Given the description of an element on the screen output the (x, y) to click on. 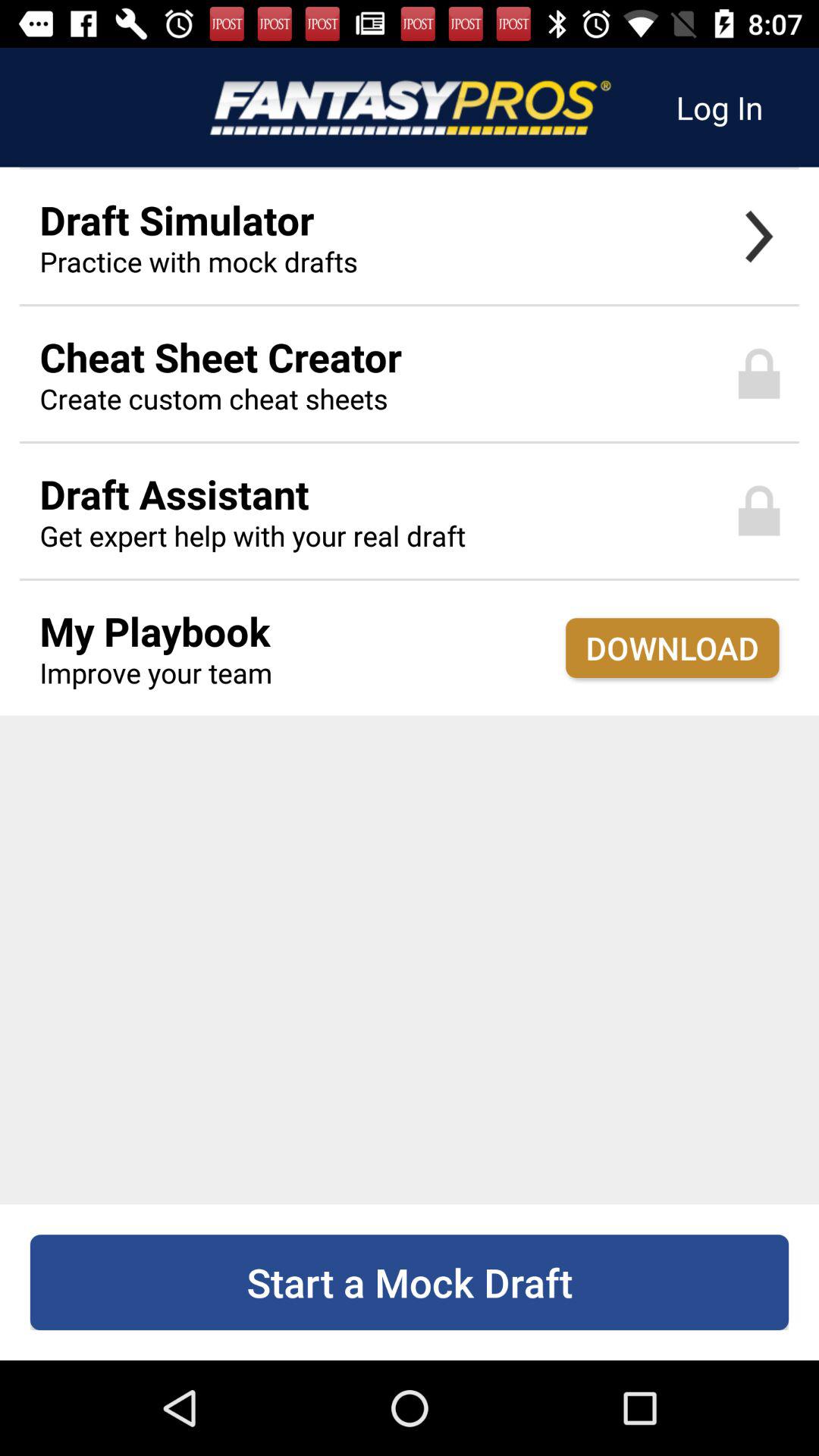
turn off the app next to my playbook app (672, 647)
